Given the description of an element on the screen output the (x, y) to click on. 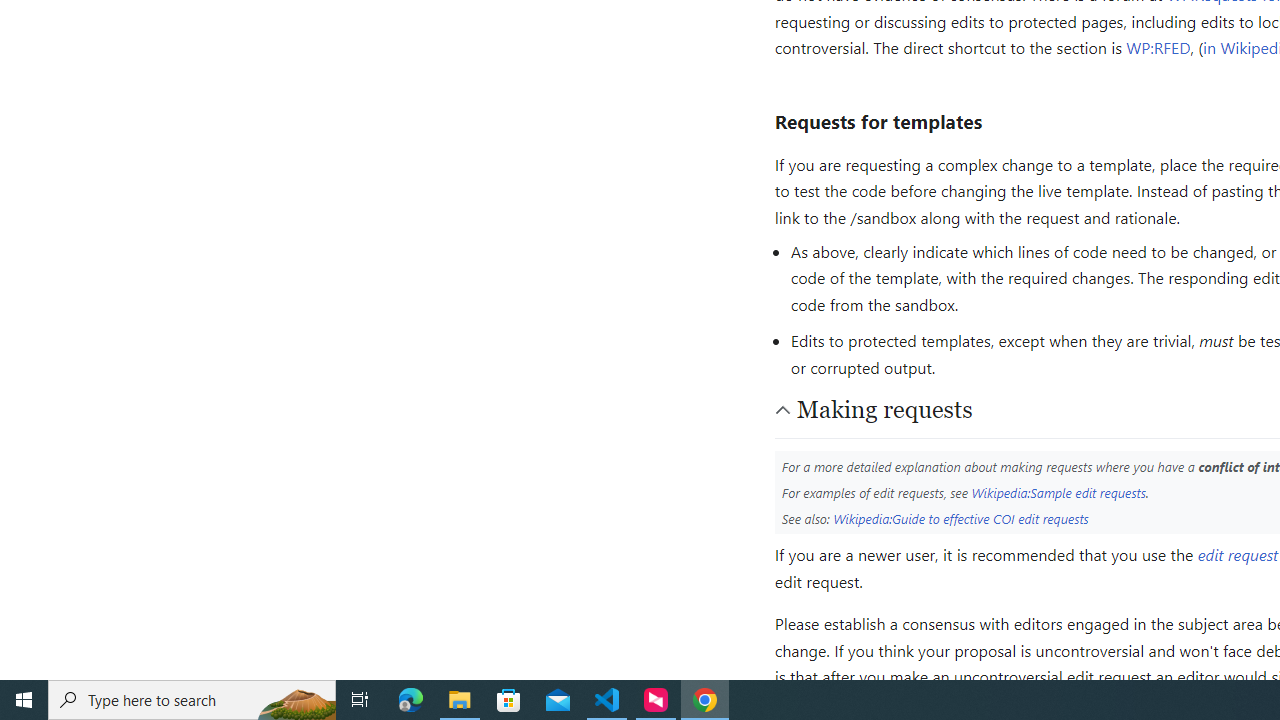
WP:RFED (1158, 47)
Wikipedia:Sample edit requests (1058, 492)
Wikipedia:Guide to effective COI edit requests (961, 518)
